Given the description of an element on the screen output the (x, y) to click on. 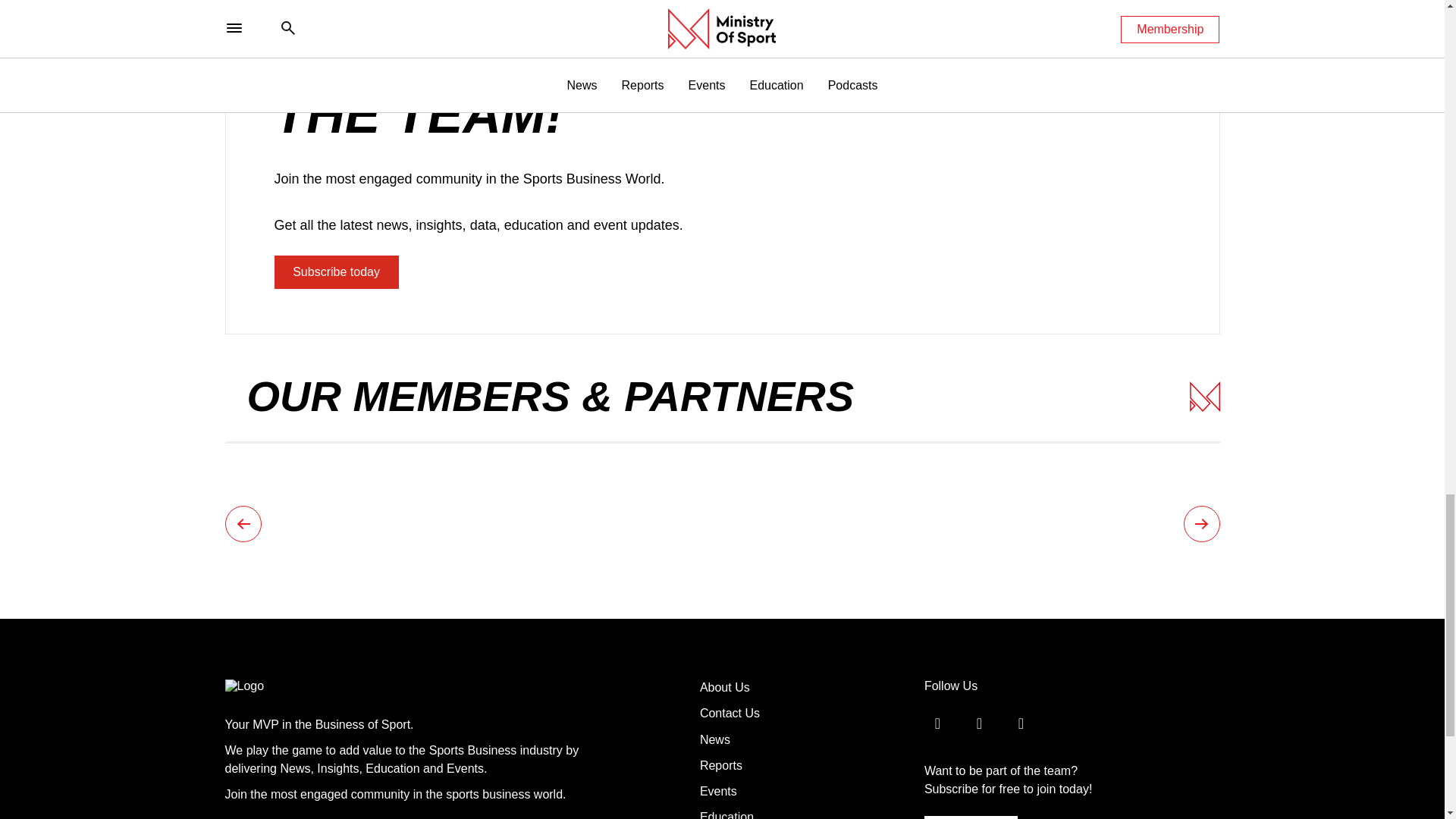
Ministry of Sport (275, 685)
